Given the description of an element on the screen output the (x, y) to click on. 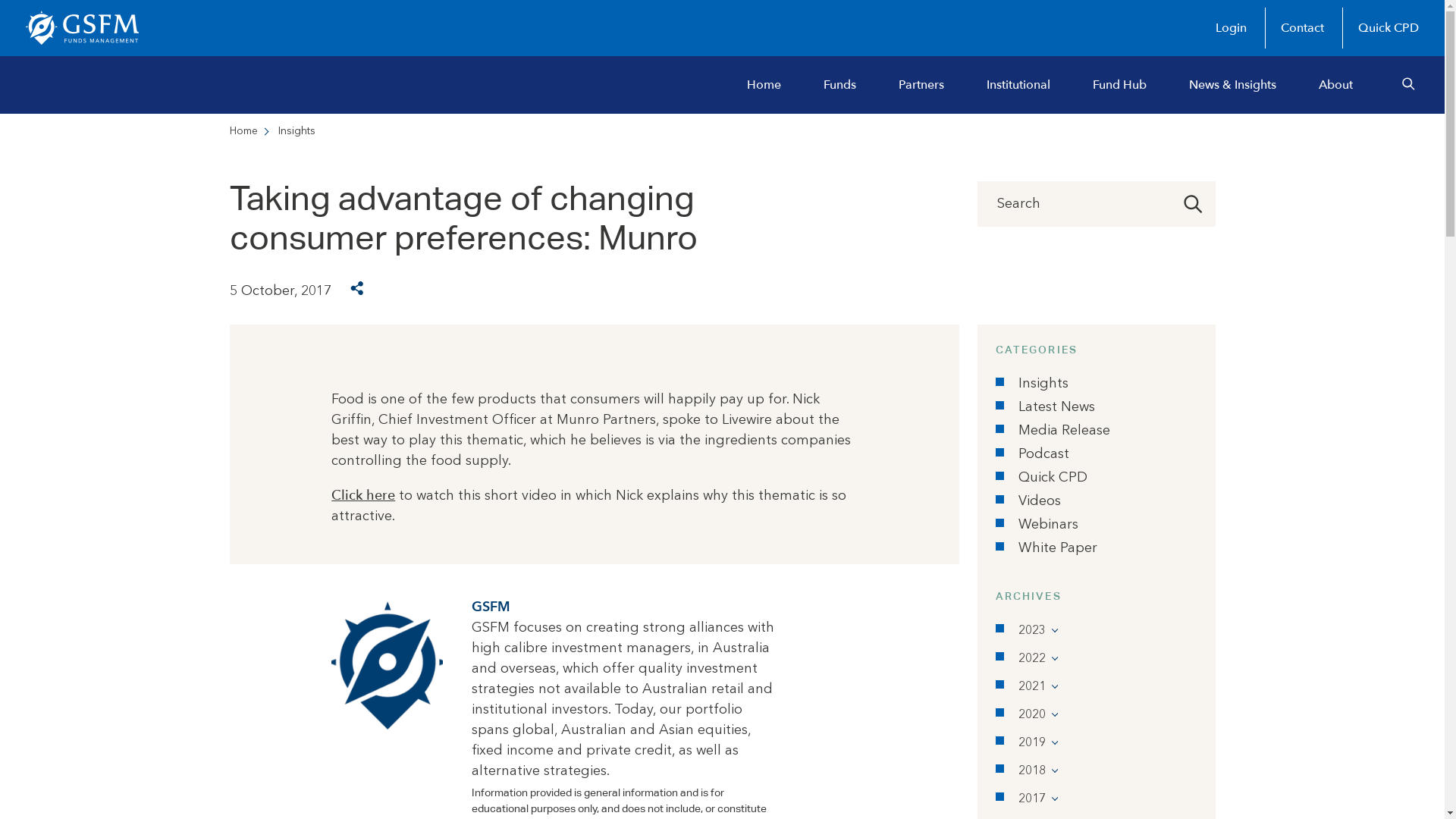
White Paper Element type: text (1057, 548)
Contact Element type: text (1301, 27)
Home Element type: text (243, 130)
Partners Element type: text (921, 84)
Quick CPD Element type: text (1052, 477)
News & Insights Element type: text (1232, 84)
Quick CPD Element type: text (1380, 27)
Webinars Element type: text (1048, 524)
Fund Hub Element type: text (1119, 84)
Click here Element type: text (363, 495)
Insights Element type: text (1043, 383)
About Element type: text (1335, 84)
Media Release Element type: text (1064, 430)
Funds Element type: text (839, 84)
Login Element type: text (1230, 27)
Podcast Element type: text (1043, 454)
Latest News Element type: text (1056, 407)
Home Element type: text (763, 84)
Institutional Element type: text (1018, 84)
Videos Element type: text (1039, 501)
Insights Element type: text (295, 130)
